Given the description of an element on the screen output the (x, y) to click on. 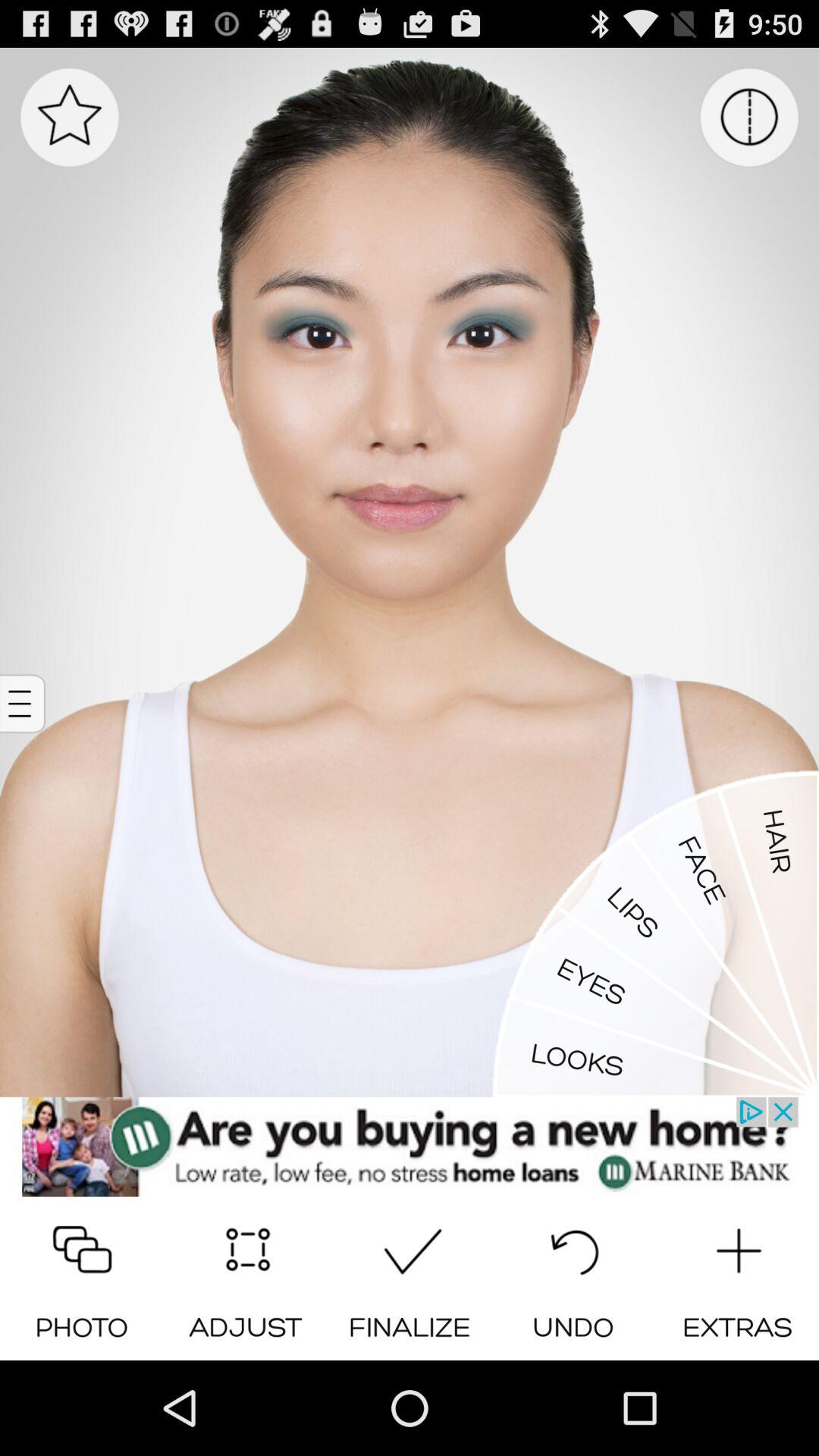
select the addvertisement (409, 1146)
